Given the description of an element on the screen output the (x, y) to click on. 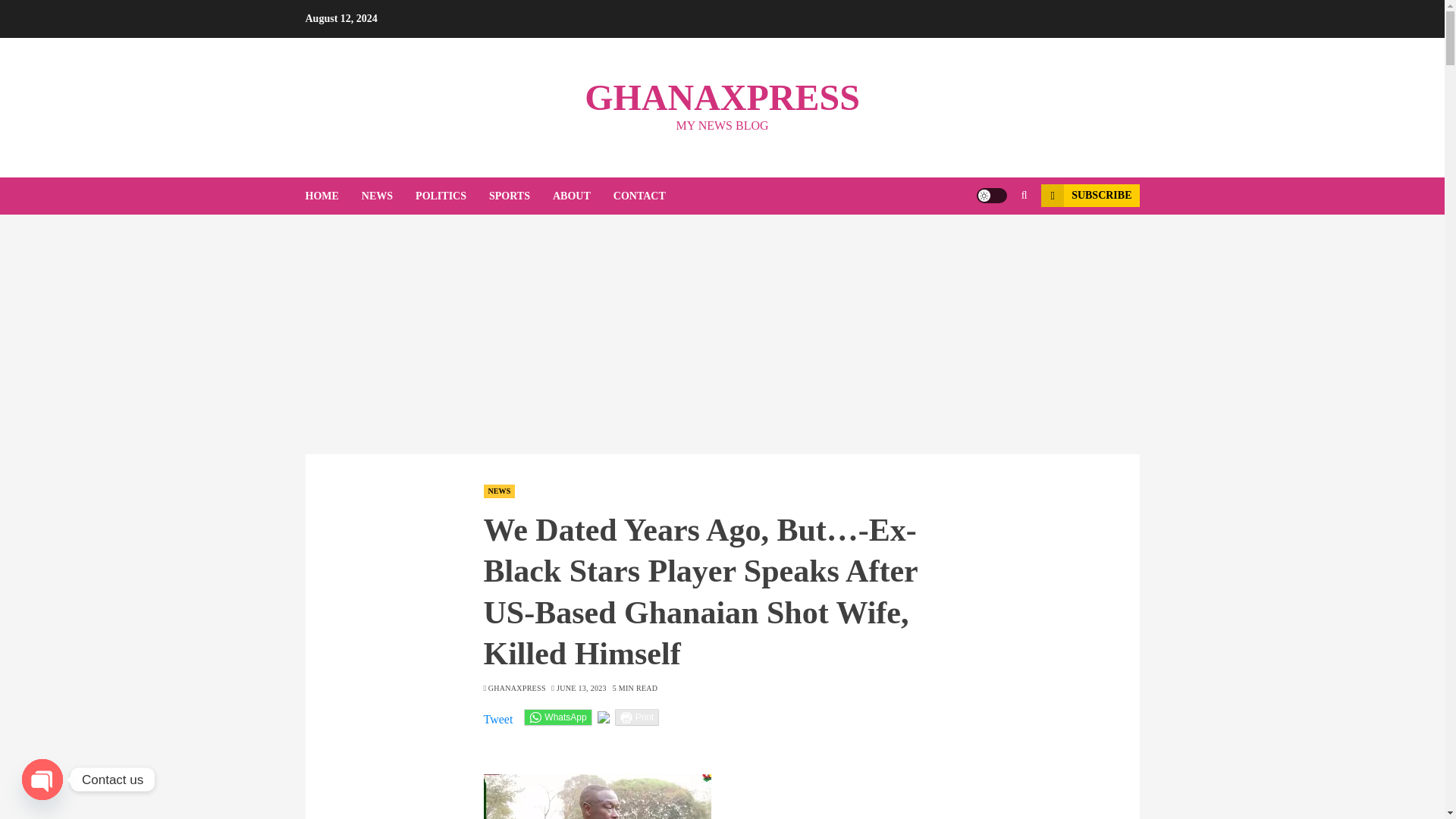
HOME (332, 195)
POLITICS (451, 195)
GHANAXPRESS (722, 96)
Click to share on WhatsApp (557, 717)
JUNE 13, 2023 (581, 688)
Tweet (498, 716)
NEWS (387, 195)
Search (994, 241)
NEWS (499, 490)
Print (637, 717)
